Given the description of an element on the screen output the (x, y) to click on. 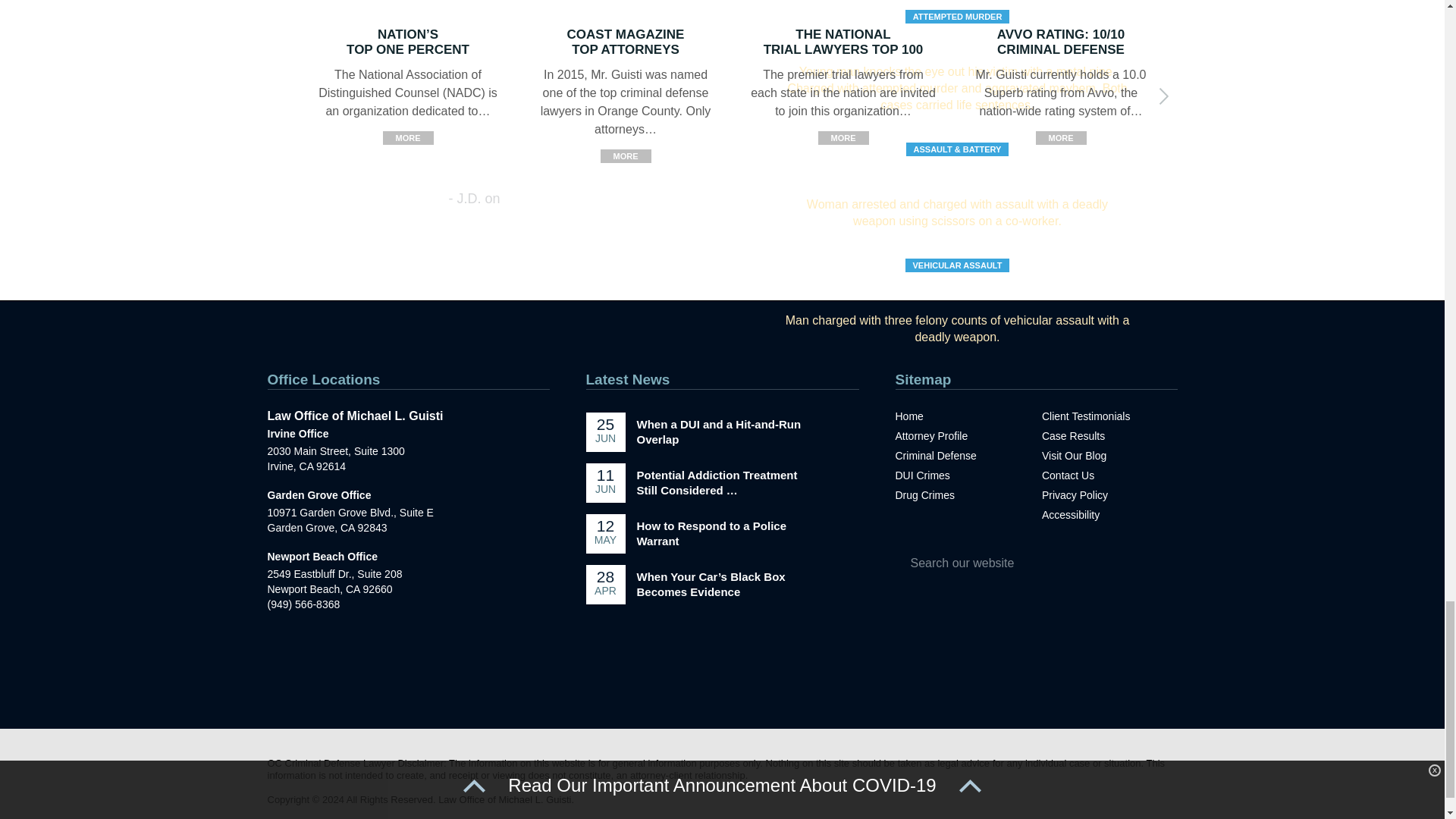
Search our website (1005, 562)
When a DUI and a Hit-and-Run Overlap (719, 431)
Search our website (1005, 562)
Follow us on LinkedIn (768, 683)
How to Respond to a Police Warrant (712, 533)
Follow us on Twitter (707, 683)
Watch our YouTube Videos (737, 683)
Follow us on Facebook (676, 683)
